Given the description of an element on the screen output the (x, y) to click on. 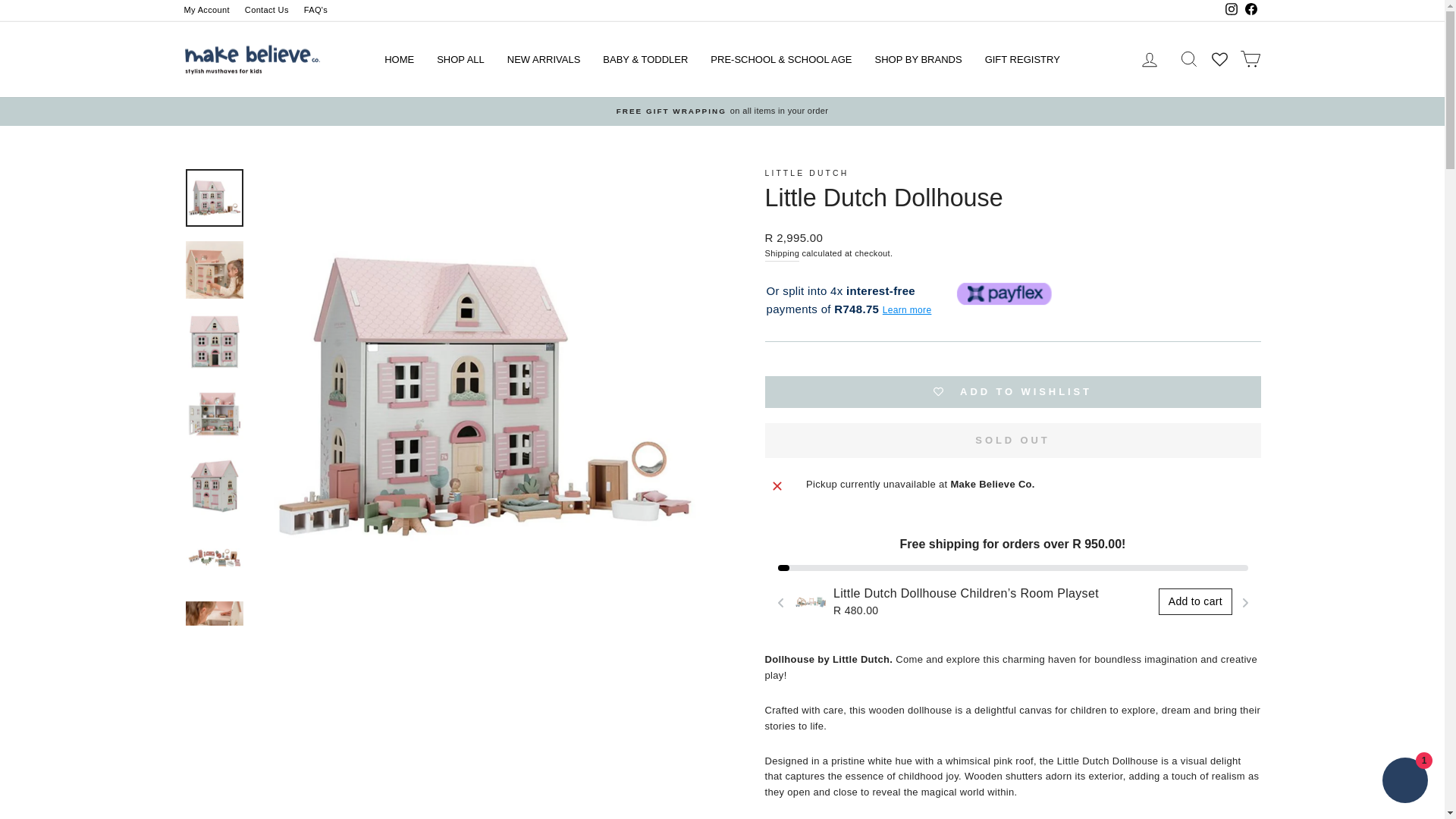
Make Believe Co. on Instagram (1230, 10)
Make Believe Co. on Facebook (1250, 10)
